Given the description of an element on the screen output the (x, y) to click on. 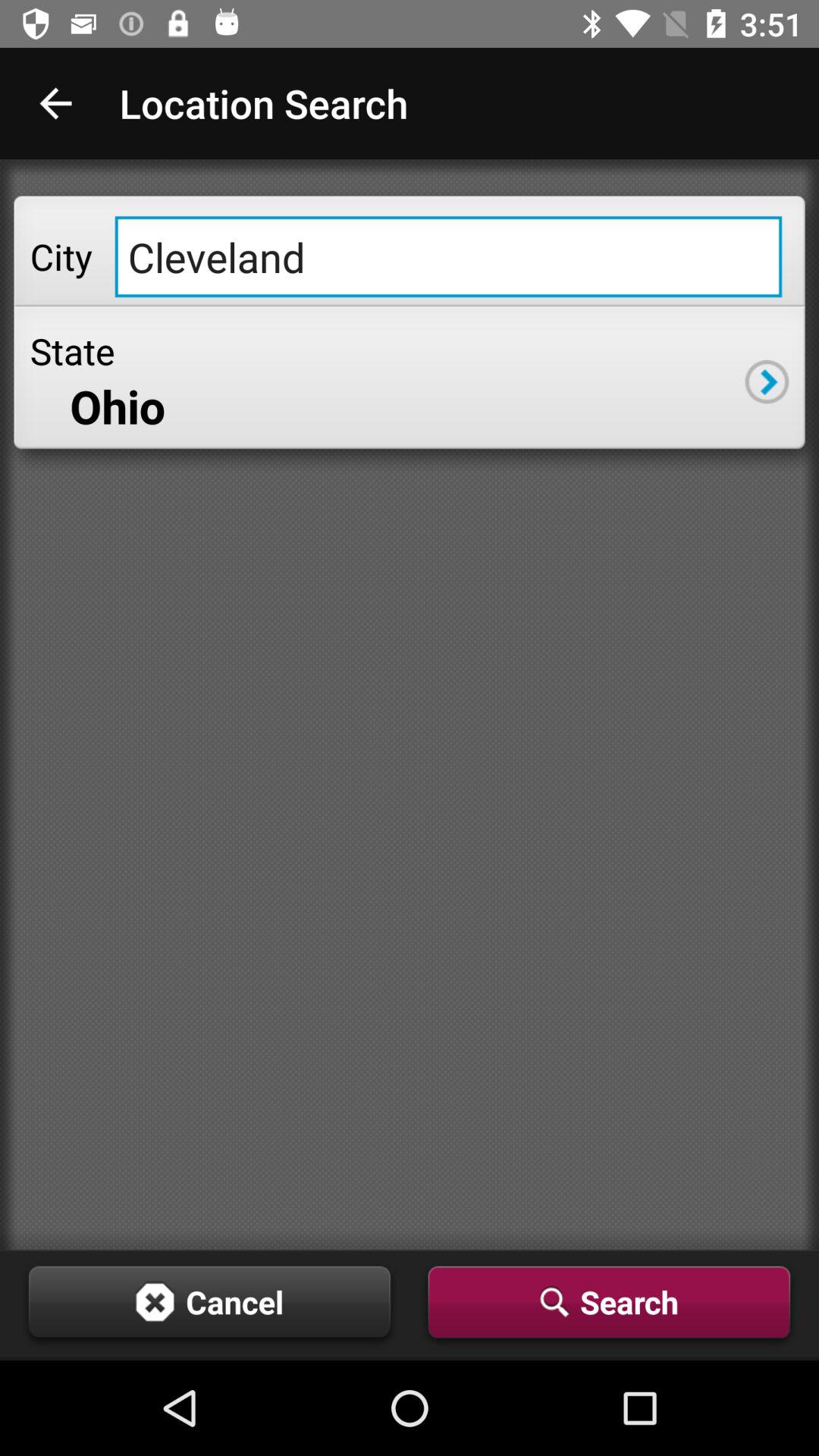
open the item next to city icon (448, 256)
